Given the description of an element on the screen output the (x, y) to click on. 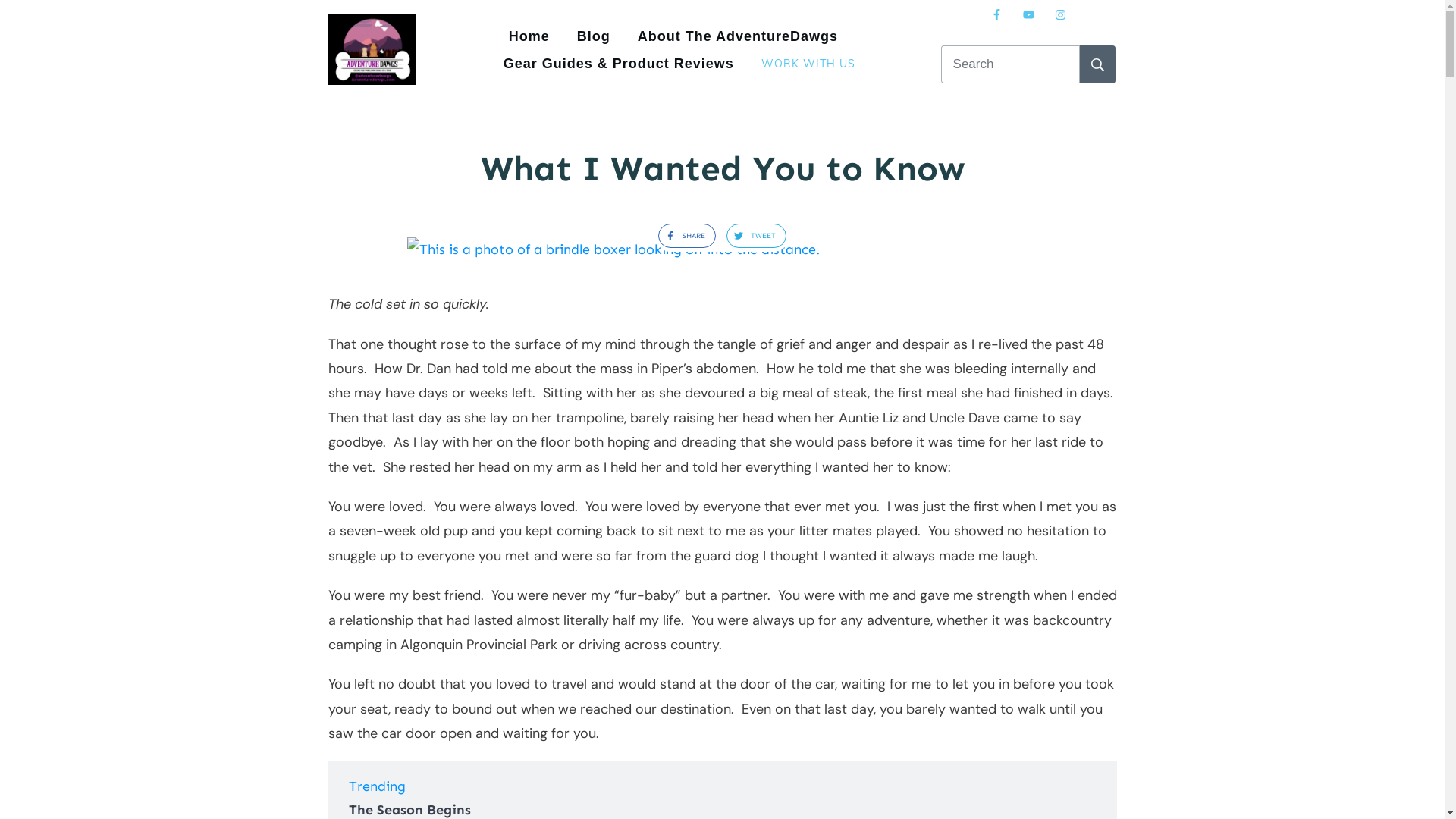
About The AdventureDawgs Element type: text (737, 36)
WORK WITH US Element type: text (808, 63)
The Season Begins Element type: text (409, 808)
Blog Element type: text (593, 36)
Gear Guides & Product Reviews Element type: text (618, 63)
What I Wanted You to Know Element type: hover (721, 248)
Home Element type: text (528, 36)
What I Wanted You to Know Element type: text (722, 168)
SHARE Element type: text (681, 235)
TWEET Element type: text (751, 235)
